Given the description of an element on the screen output the (x, y) to click on. 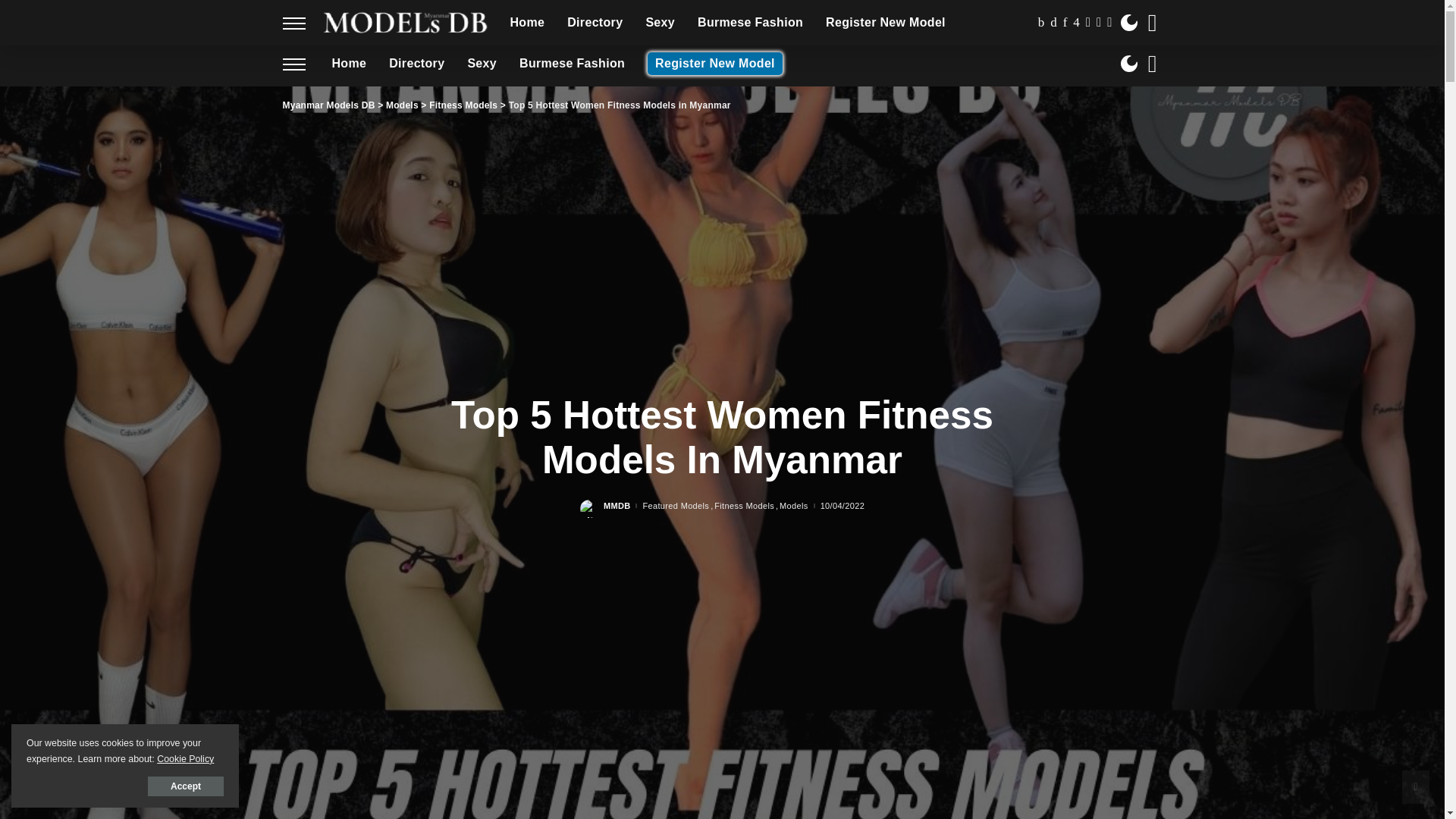
Myanmar Models DB (392, 20)
